Given the description of an element on the screen output the (x, y) to click on. 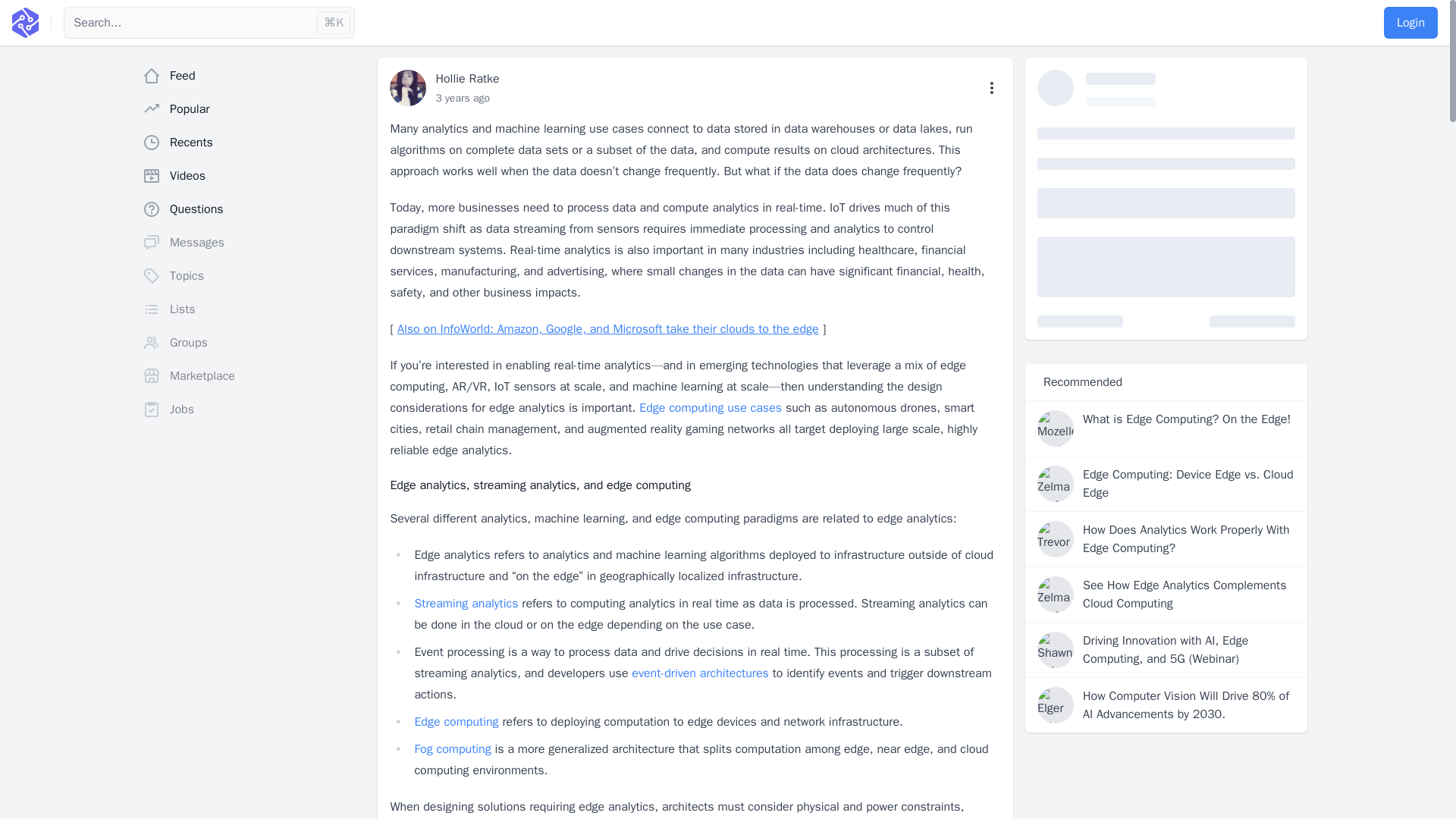
3 years ago (462, 97)
Edge computing (455, 721)
Login (1411, 22)
Feed (253, 75)
Edge computing use cases (710, 407)
Recents (253, 142)
Questions (253, 209)
Open options (991, 87)
Hollie Ratke (467, 78)
Fog computing (451, 749)
